Given the description of an element on the screen output the (x, y) to click on. 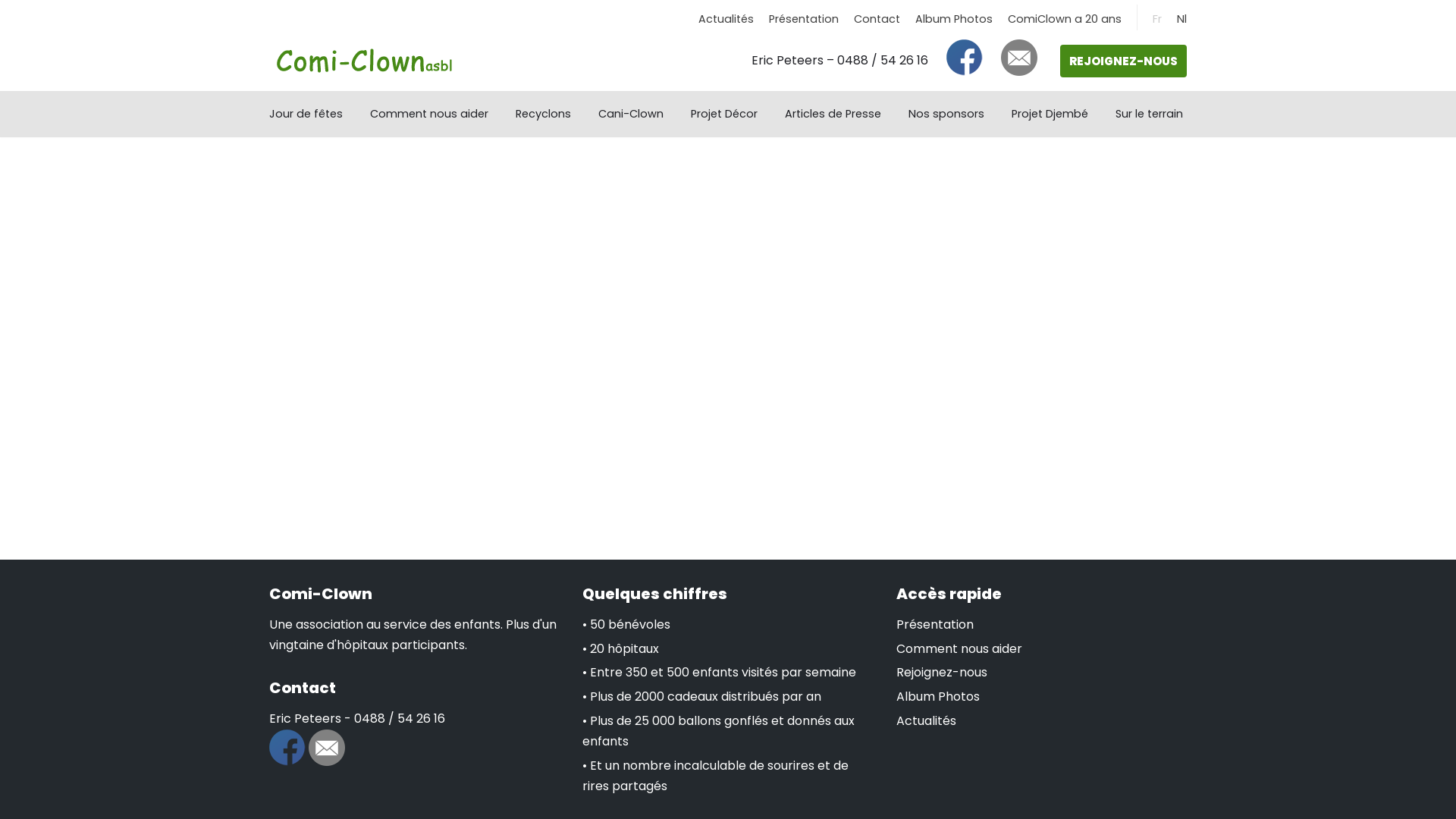
Recyclons Element type: text (543, 113)
Comment nous aider Element type: text (429, 113)
REJOIGNEZ-NOUS Element type: text (1123, 59)
Rejoignez-nous Element type: text (941, 671)
Nos sponsors Element type: text (946, 113)
Album Photos Element type: text (953, 18)
Album Photos Element type: text (937, 696)
Articles de Presse Element type: text (832, 113)
Aller au contenu Element type: text (15, 31)
ComiClown a 20 ans Element type: text (1064, 18)
Contact Element type: text (876, 18)
Comment nous aider Element type: text (959, 648)
Sur le terrain Element type: text (1149, 113)
Fr Element type: text (1156, 18)
Cani-Clown Element type: text (630, 113)
Nl Element type: text (1181, 18)
